Given the description of an element on the screen output the (x, y) to click on. 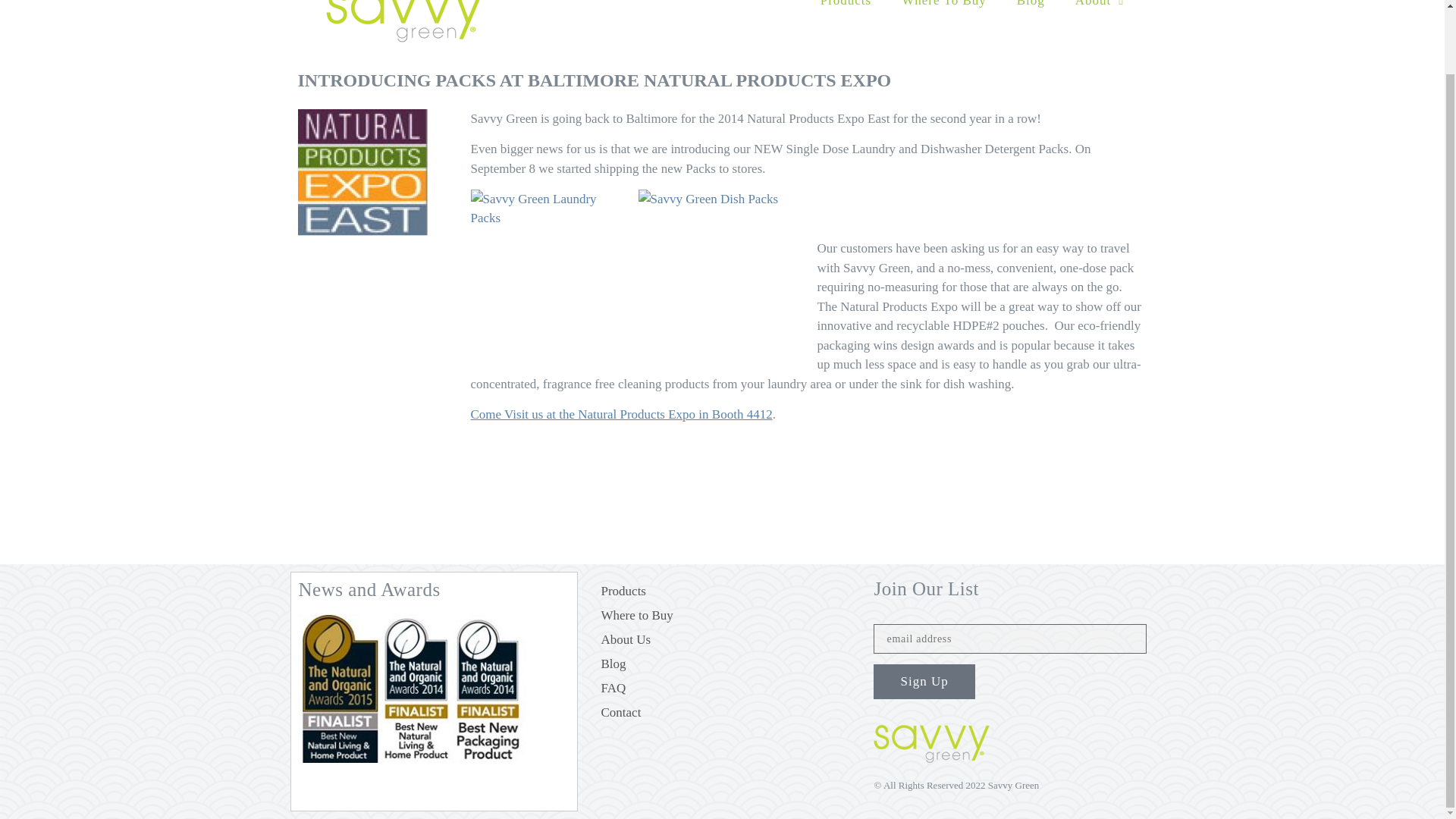
Contact (722, 712)
Products (845, 9)
Blog (1030, 9)
Sign up (923, 681)
FAQ (722, 688)
About (1099, 9)
Come Visit us at the Natural Products Expo in Booth 4412 (620, 414)
About Us (722, 639)
Where To Buy (943, 9)
Where to Buy (722, 615)
